Given the description of an element on the screen output the (x, y) to click on. 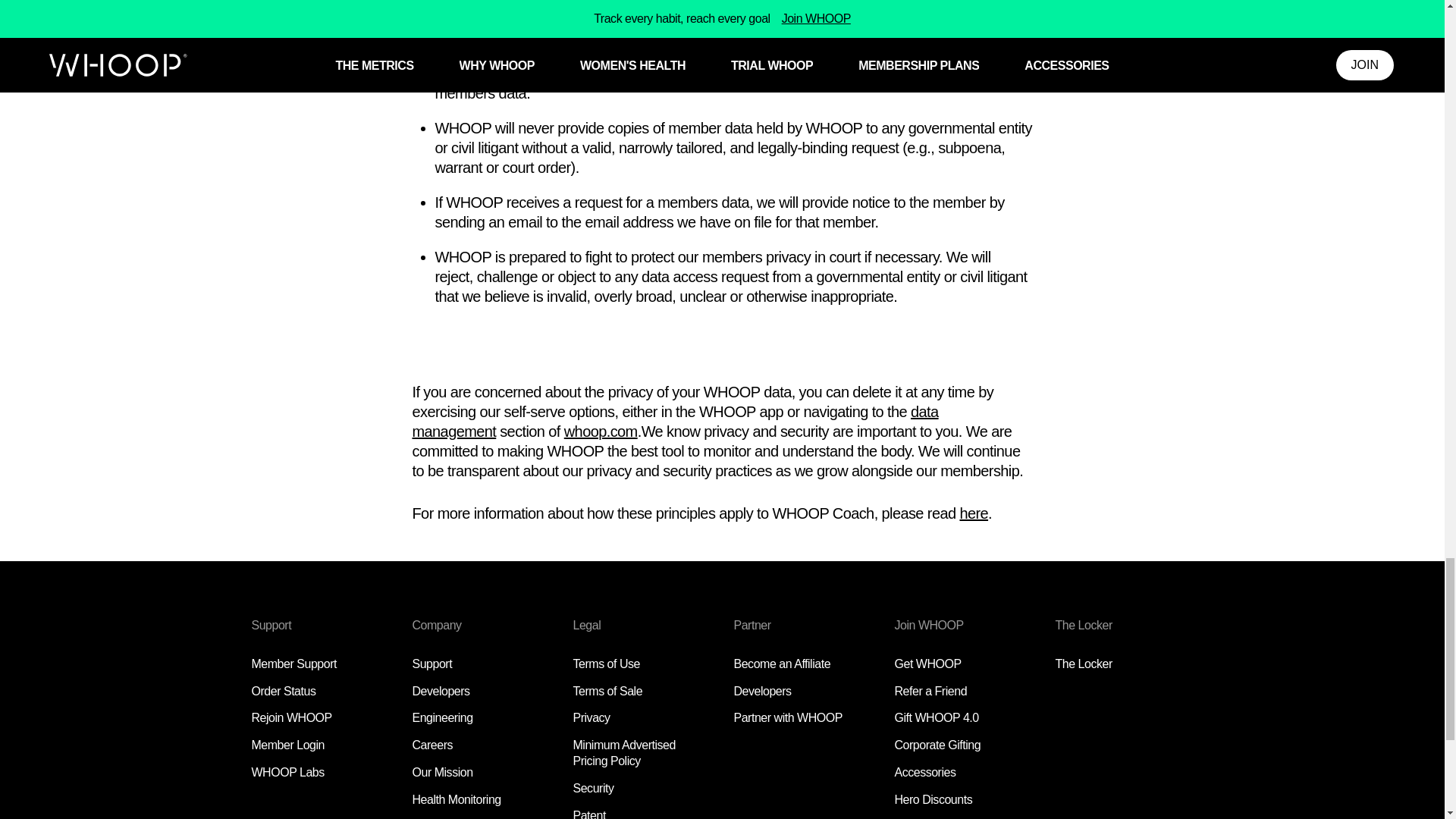
here (973, 513)
Careers (432, 744)
whoop.com (600, 431)
Developers (441, 690)
Order Status (283, 690)
Terms of Use (606, 663)
Health Monitoring (456, 799)
data management (675, 421)
Minimum Advertised Pricing Policy (624, 752)
Engineering (442, 717)
